Given the description of an element on the screen output the (x, y) to click on. 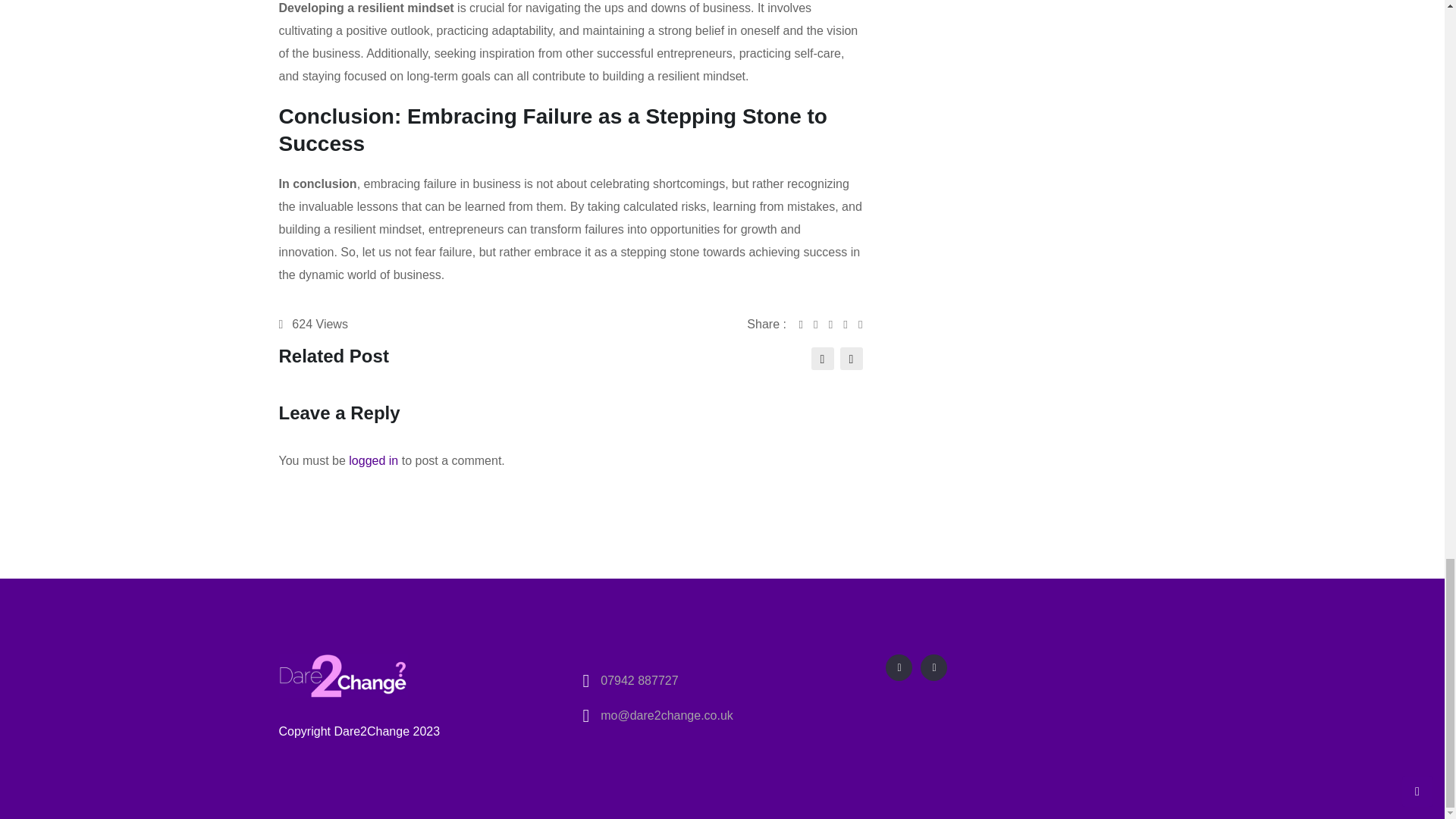
Share via Email (851, 323)
logged in (373, 460)
Whatsapp (836, 323)
